Given the description of an element on the screen output the (x, y) to click on. 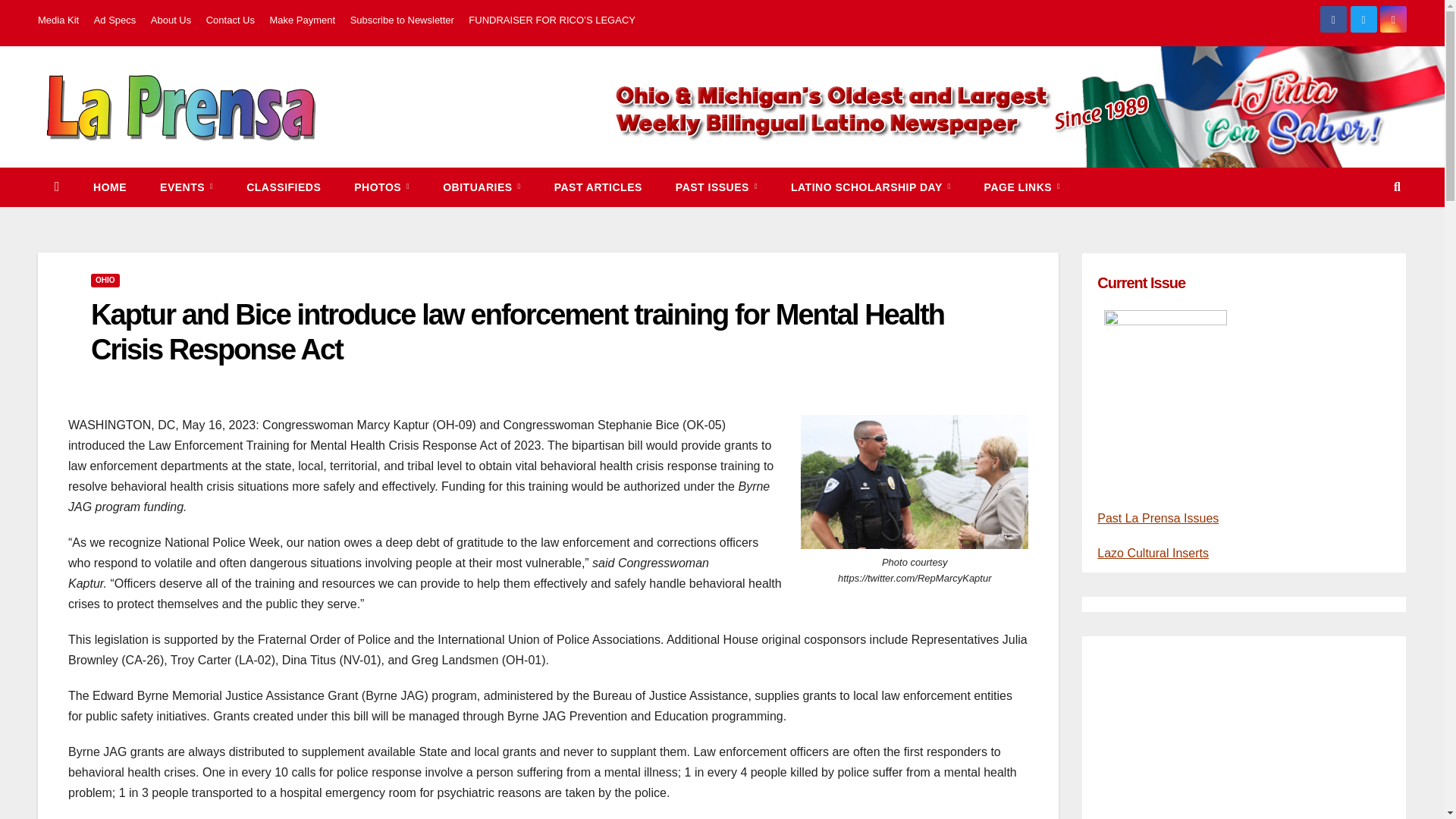
PAST ARTICLES (598, 187)
Subscribe to Newsletter (402, 19)
Home (109, 187)
Classifieds (283, 187)
Media Kit (57, 19)
CLASSIFIEDS (283, 187)
Obituaries (481, 187)
PAST ISSUES (716, 187)
Contact Us (230, 19)
PHOTOS (381, 187)
